Given the description of an element on the screen output the (x, y) to click on. 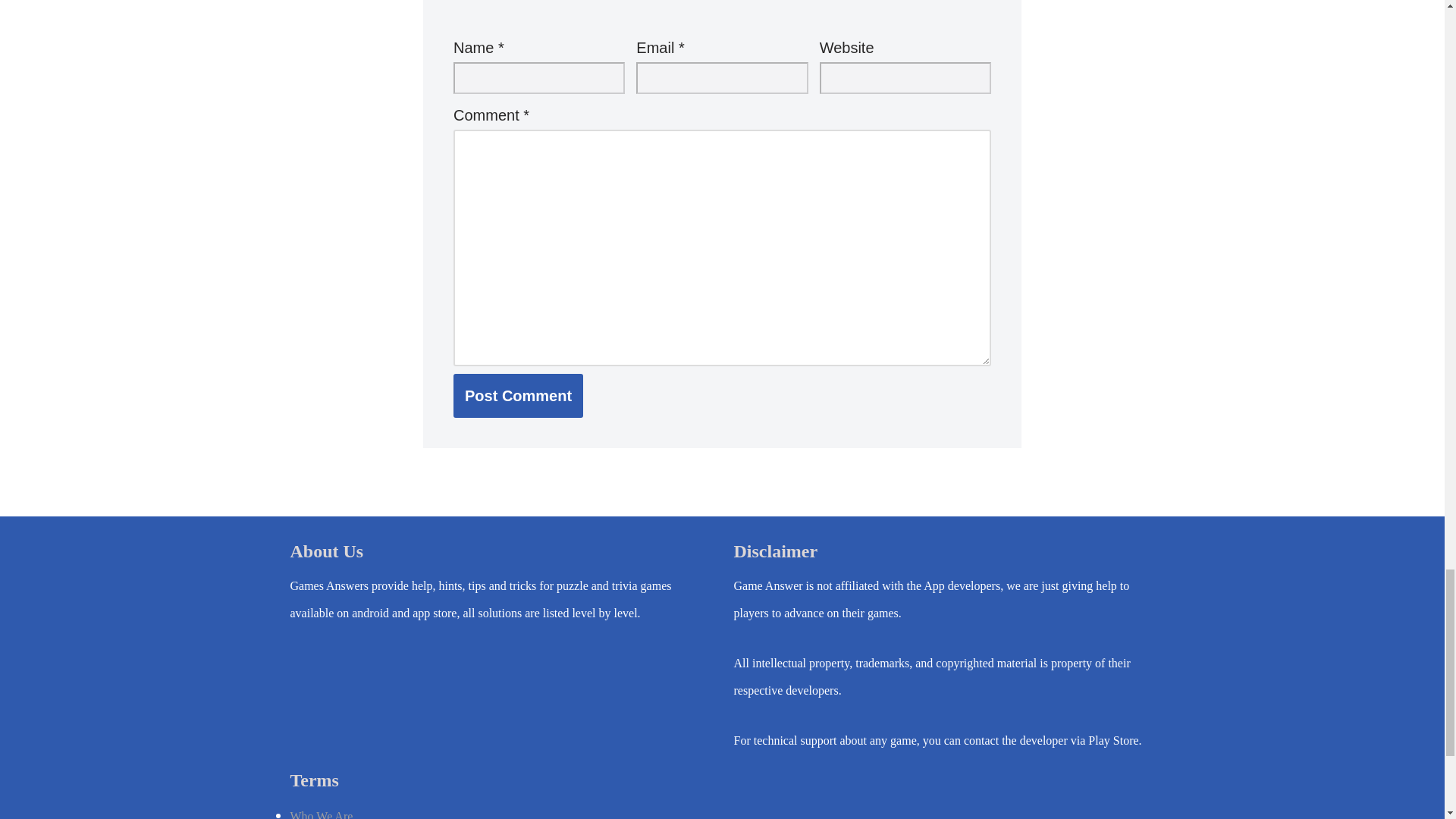
Who We Are (320, 814)
Post Comment (517, 395)
Post Comment (517, 395)
